Given the description of an element on the screen output the (x, y) to click on. 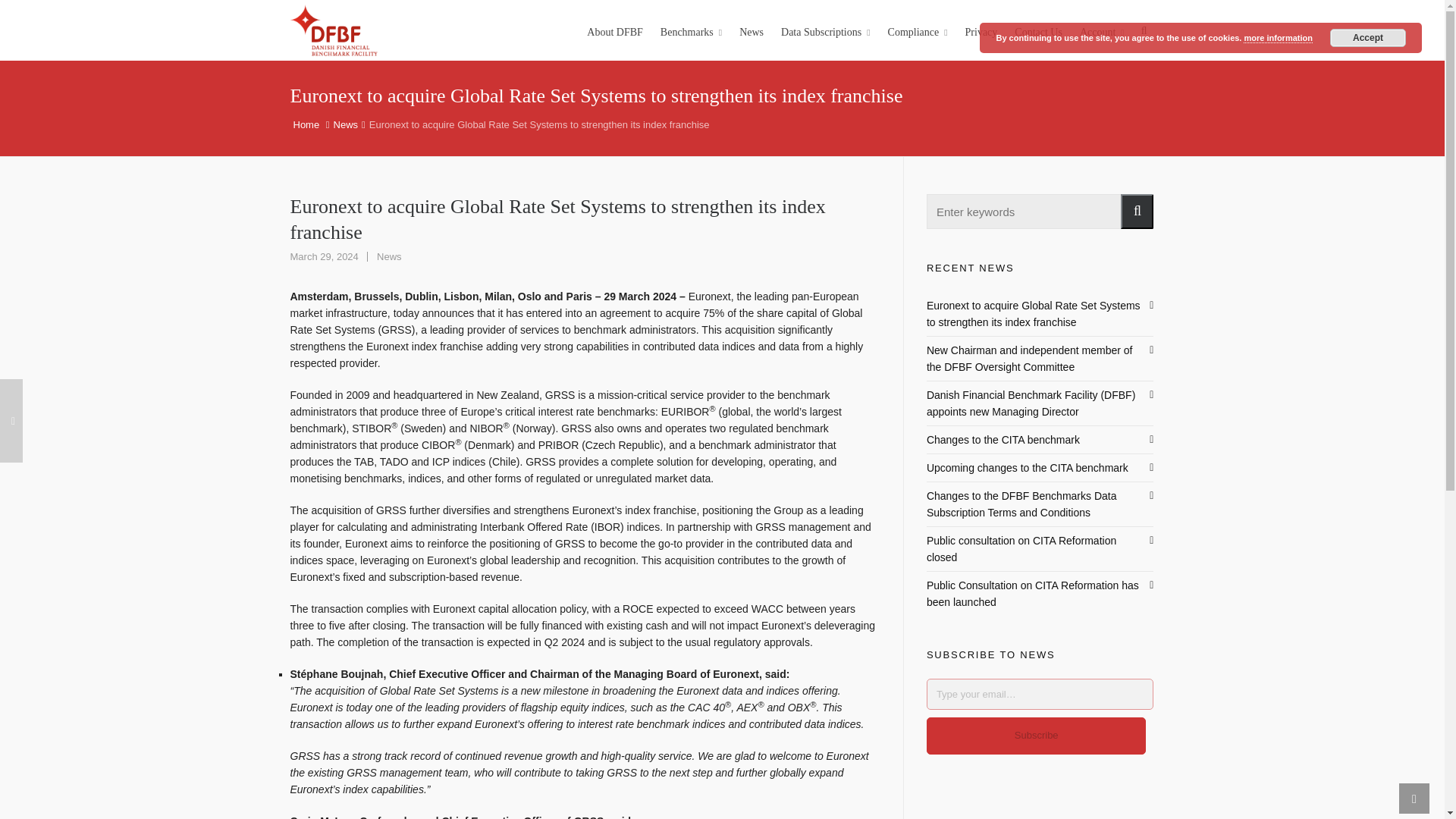
Benchmarks (691, 30)
About DFBF (614, 30)
News (750, 30)
Data Subscriptions (826, 30)
Please fill in this field. (1040, 694)
